Given the description of an element on the screen output the (x, y) to click on. 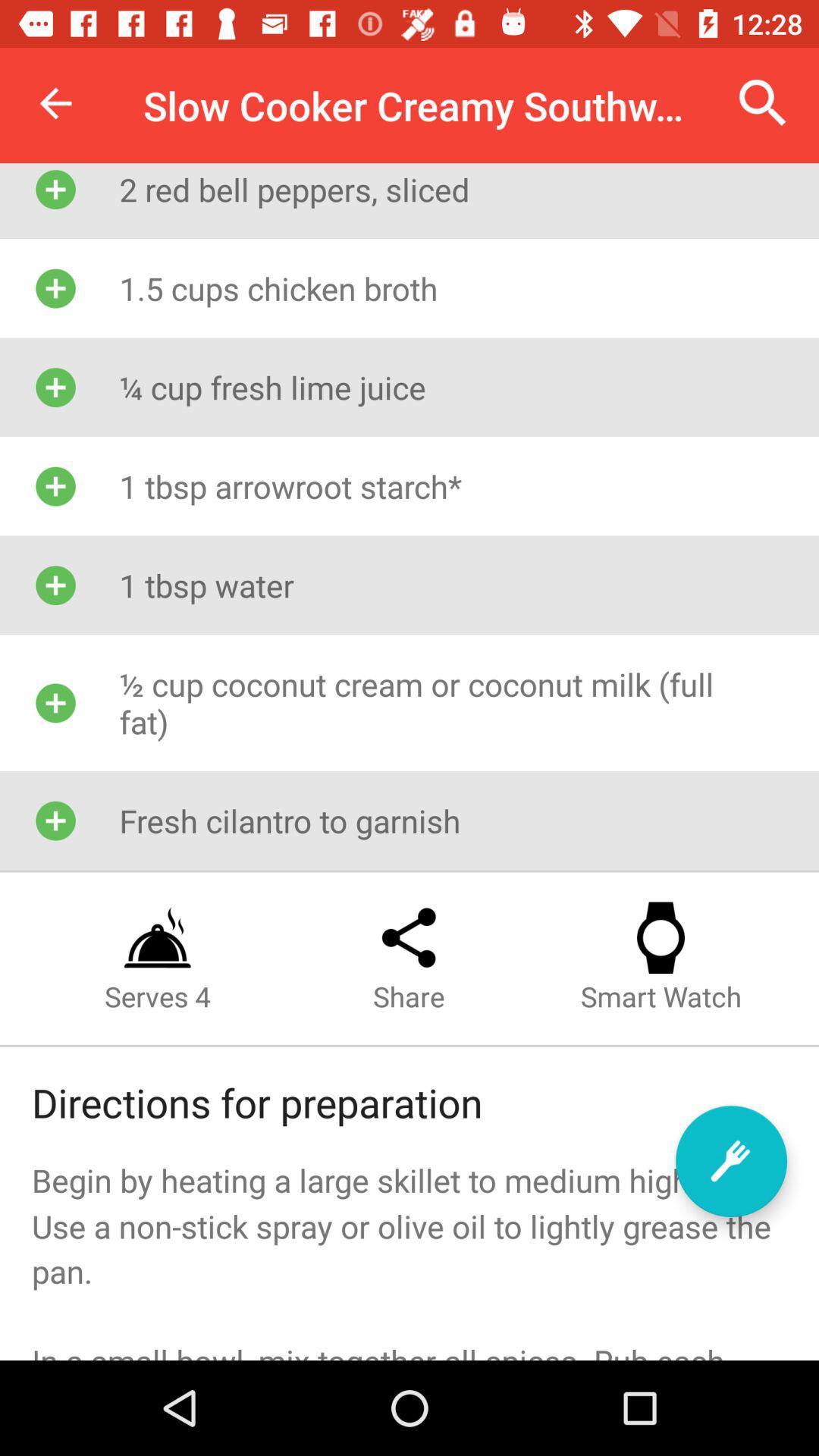
activate fork icon (731, 1161)
